Given the description of an element on the screen output the (x, y) to click on. 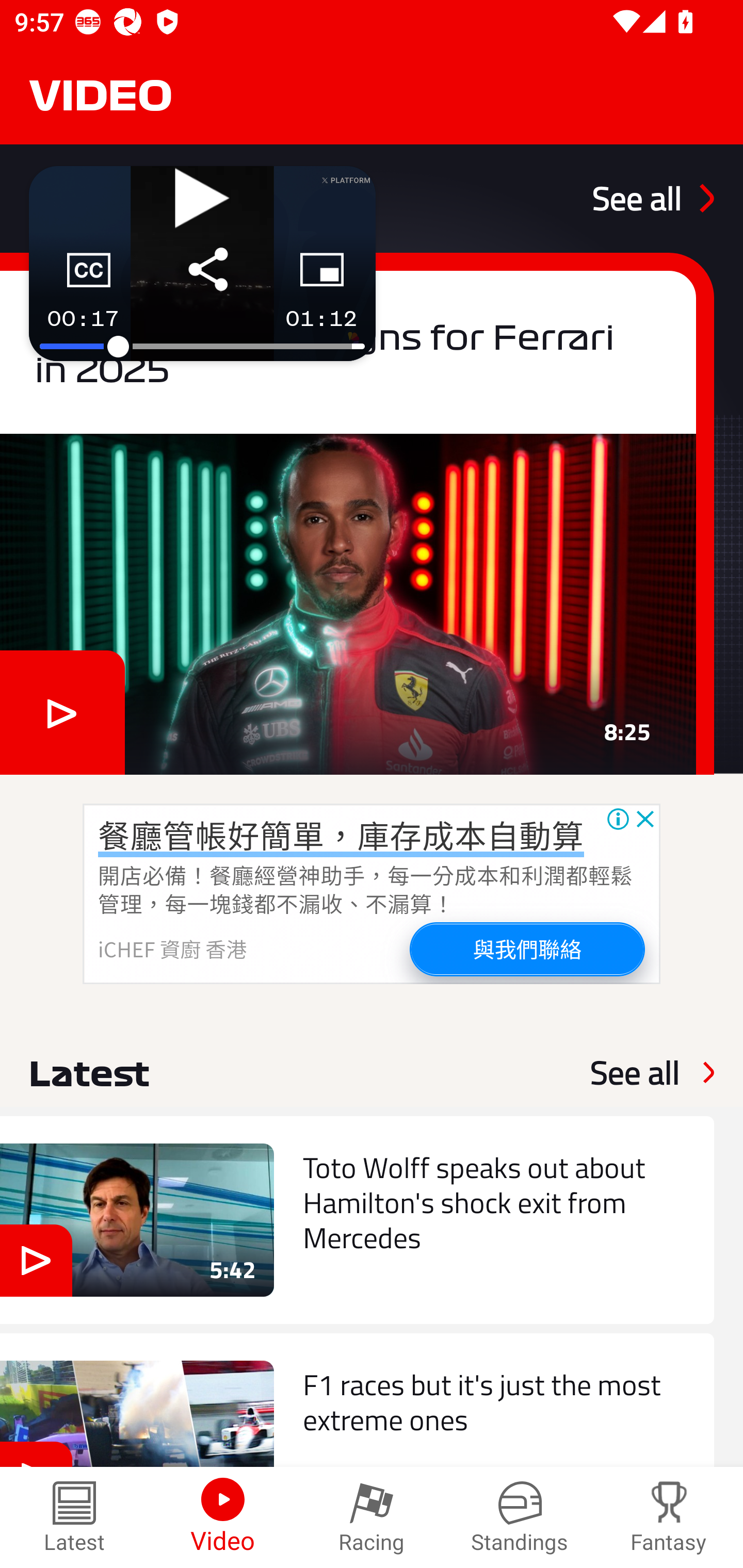
See all (653, 198)
Lewis Hamilton signs for Ferrari in 2025 8:25 (357, 513)
餐廳管帳好簡單，庫存成本自動算 (340, 834)
與我們聯絡 (526, 948)
iCHEF 資廚 香港 (172, 948)
See all (634, 1072)
F1 races but it's just the most extreme ones  (357, 1399)
Latest (74, 1517)
Racing (371, 1517)
Standings (519, 1517)
Fantasy (668, 1517)
